Given the description of an element on the screen output the (x, y) to click on. 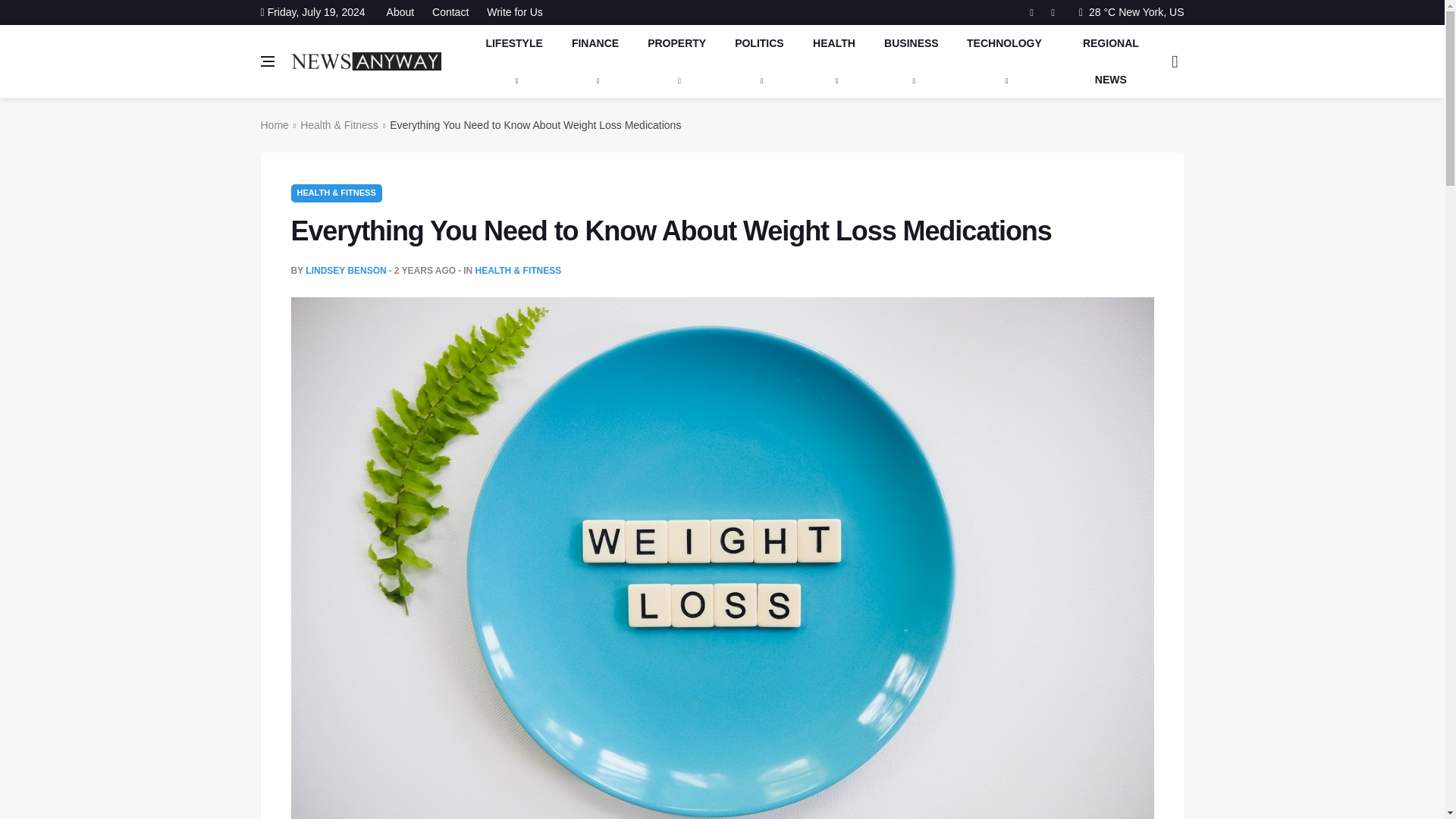
Clear (1130, 11)
FINANCE (595, 61)
Lindsey Benson (345, 270)
LINDSEY BENSON (345, 270)
TECHNOLOGY (1005, 61)
About (404, 12)
News Anyway (365, 61)
HEALTH (833, 61)
PROPERTY (676, 61)
LIFESTYLE (514, 61)
Contact (450, 12)
Write for Us (511, 12)
REGIONAL NEWS (1110, 61)
